Given the description of an element on the screen output the (x, y) to click on. 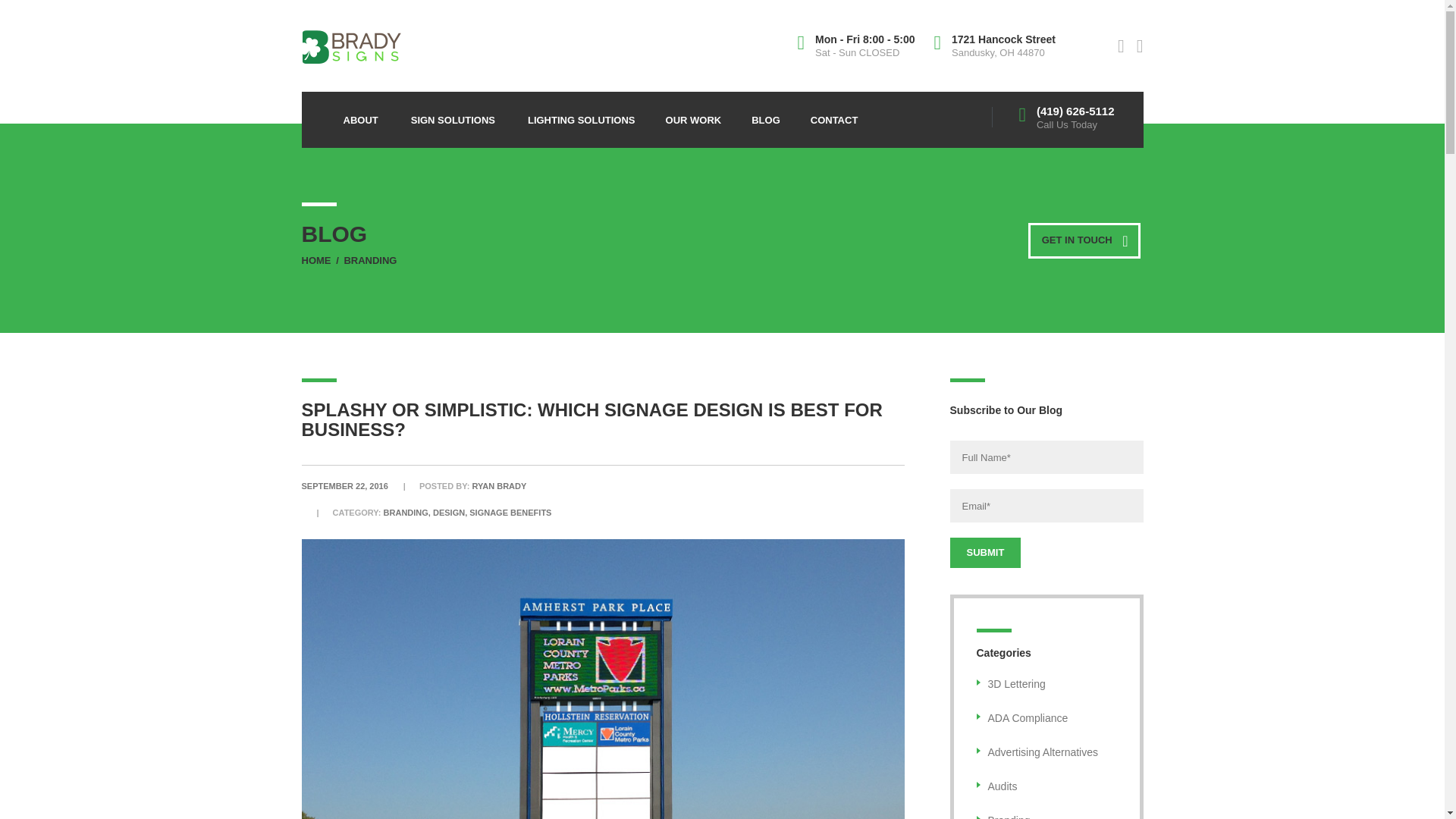
GET IN TOUCH (1083, 240)
HOME (316, 260)
SIGN SOLUTIONS (454, 115)
OUR WORK (693, 115)
LIGHTING SOLUTIONS (581, 115)
BRANDING (369, 260)
CONTACT (833, 115)
BLOG (765, 115)
ABOUT (360, 115)
